Given the description of an element on the screen output the (x, y) to click on. 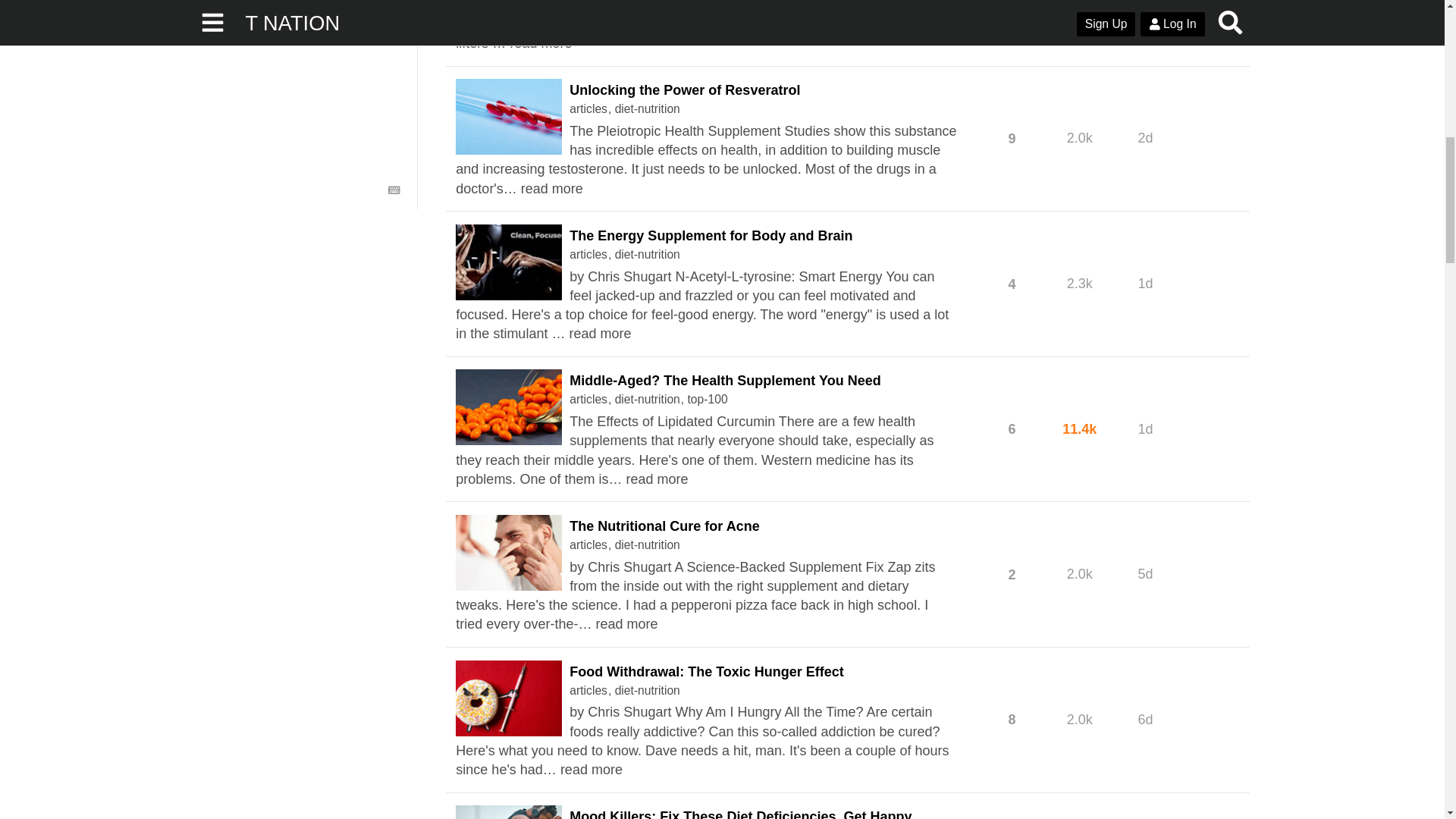
0 (1012, 5)
Keyboard Shortcuts (394, 190)
2h (1145, 6)
Unlocking the Power of Resveratrol (684, 89)
